Given the description of an element on the screen output the (x, y) to click on. 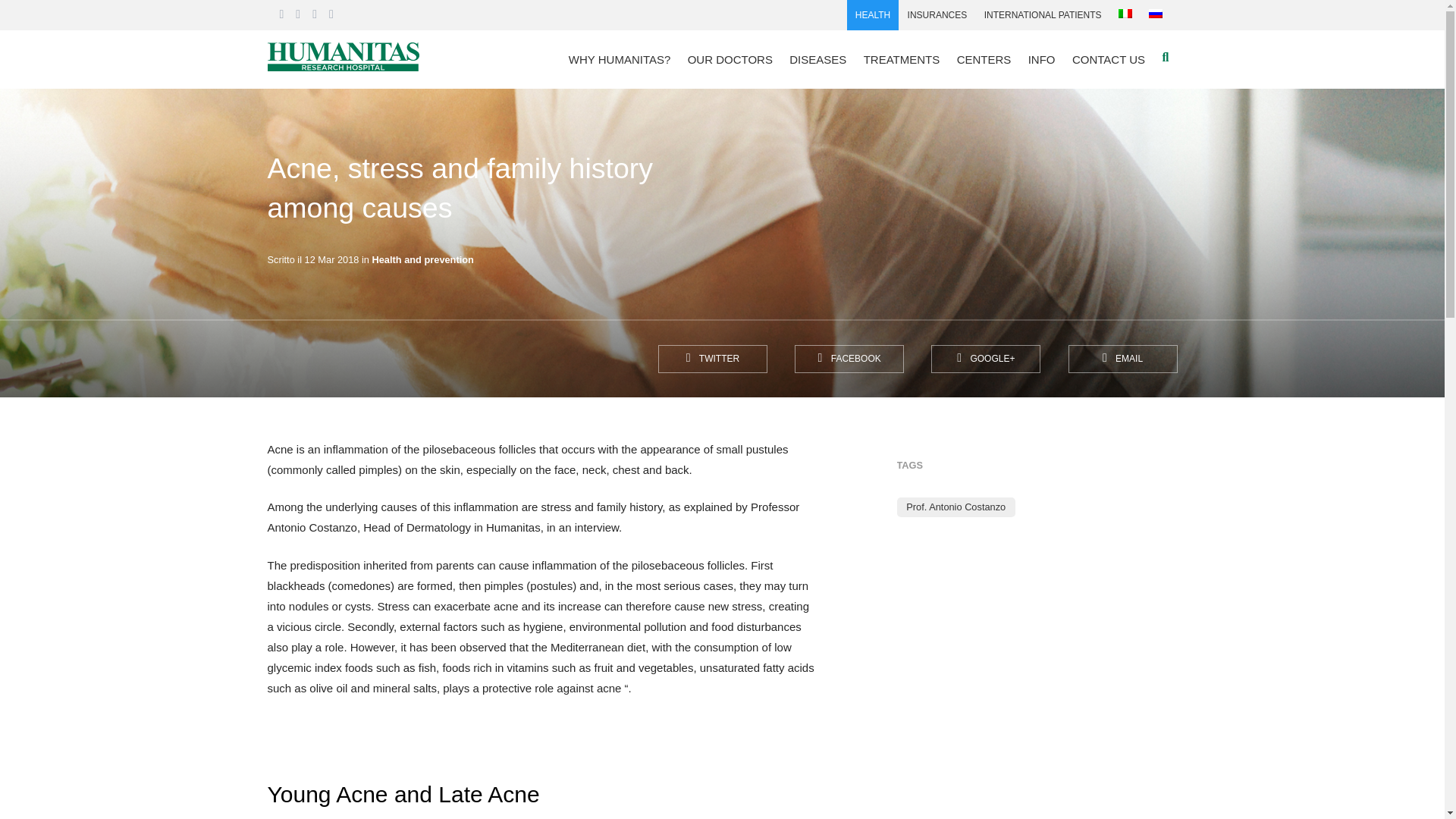
TWITTER (712, 358)
TREATMENTS (902, 59)
Prof. Antonio Costanzo (955, 506)
DISEASES (817, 59)
EMAIL (1121, 358)
INFO (1040, 59)
CENTERS (983, 59)
HEALTH (873, 15)
INTERNATIONAL PATIENTS (1042, 15)
Send an E-Mail (1121, 358)
FACEBOOK (849, 358)
Italian (1125, 13)
Russian (1154, 13)
OUR DOCTORS (729, 59)
CONTACT US (1109, 59)
